Given the description of an element on the screen output the (x, y) to click on. 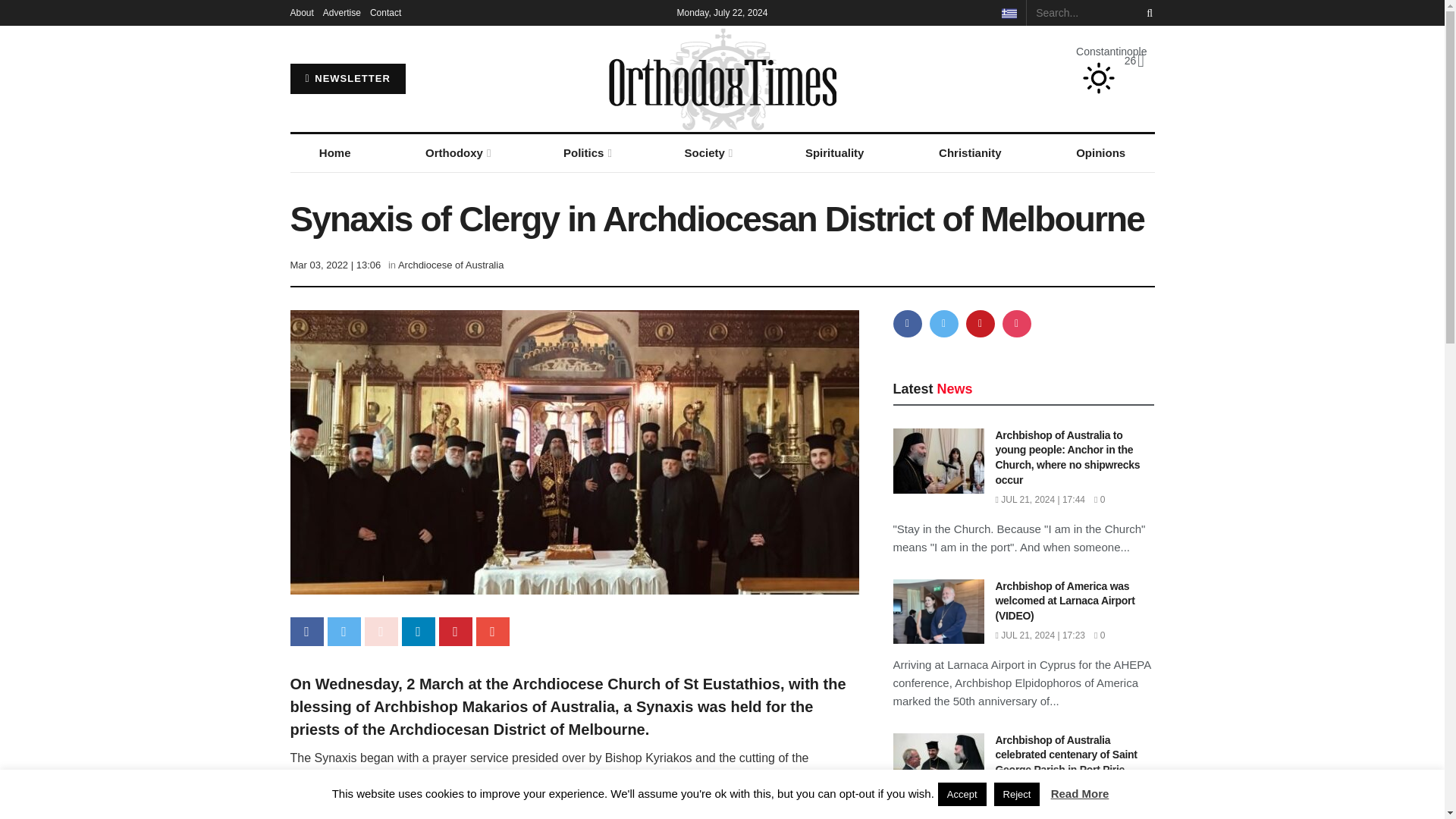
Society (706, 152)
Home (333, 152)
About (301, 12)
NEWSLETTER (346, 78)
Orthodoxy (457, 152)
Politics (586, 152)
Contact (385, 12)
Advertise (342, 12)
Spirituality (834, 152)
